Given the description of an element on the screen output the (x, y) to click on. 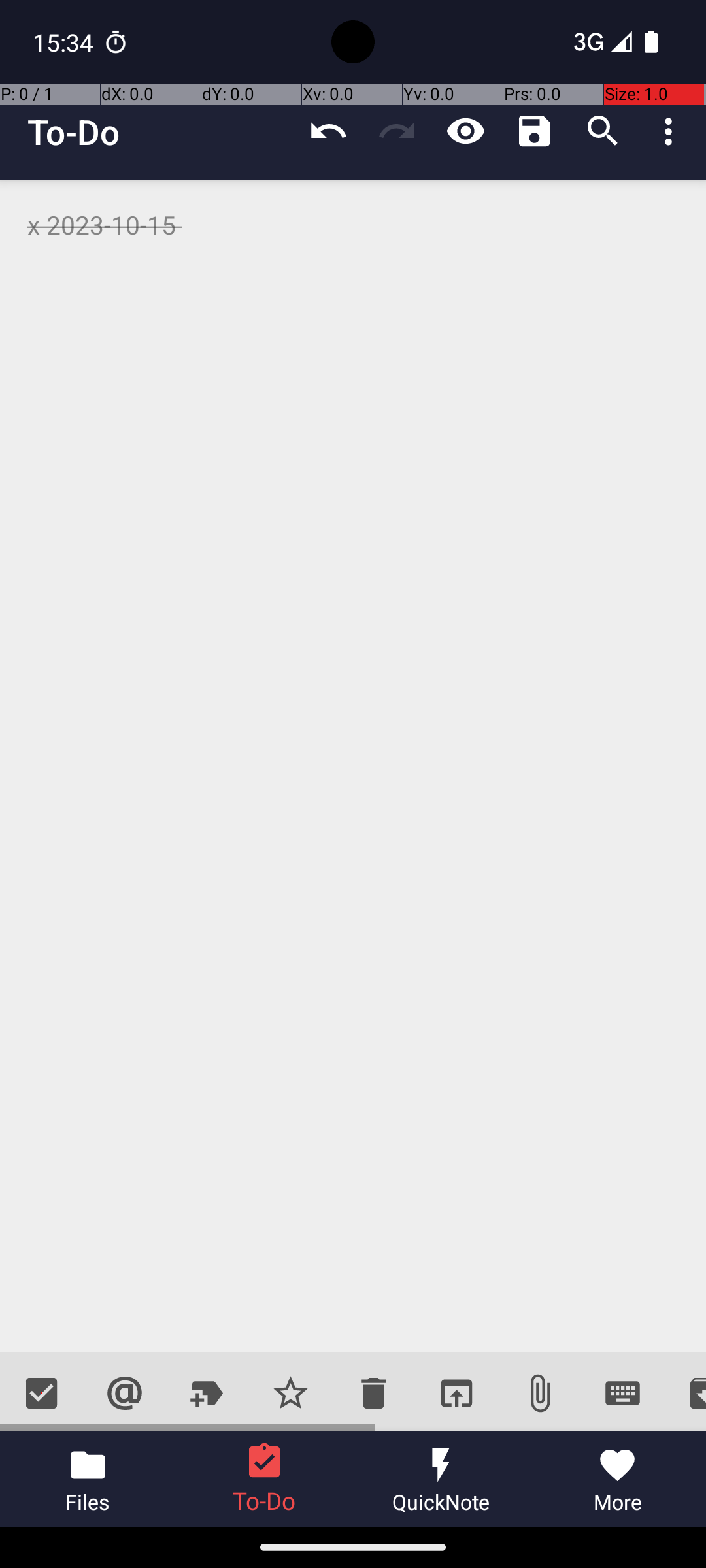
x 2023-10-15  Element type: android.widget.EditText (353, 765)
